Given the description of an element on the screen output the (x, y) to click on. 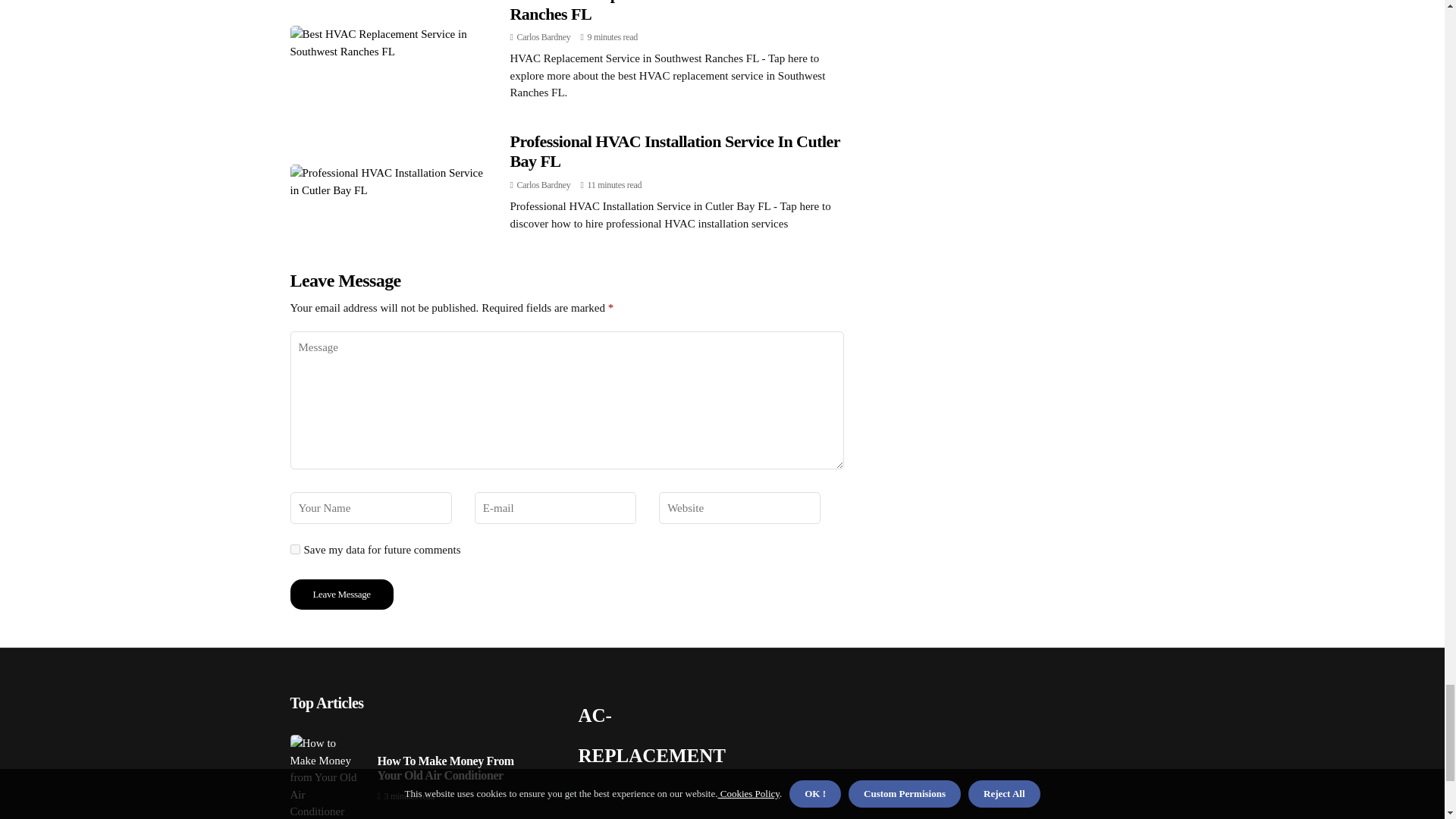
Professional HVAC Installation Service In Cutler Bay FL (674, 150)
yes (294, 549)
Leave Message (341, 594)
Carlos Bardney (543, 36)
Posts by Carlos Bardney (543, 36)
Leave Message (341, 594)
Posts by Carlos Bardney (543, 184)
Carlos Bardney (543, 184)
Best HVAC Replacement Service In Southwest Ranches FL (666, 11)
